Given the description of an element on the screen output the (x, y) to click on. 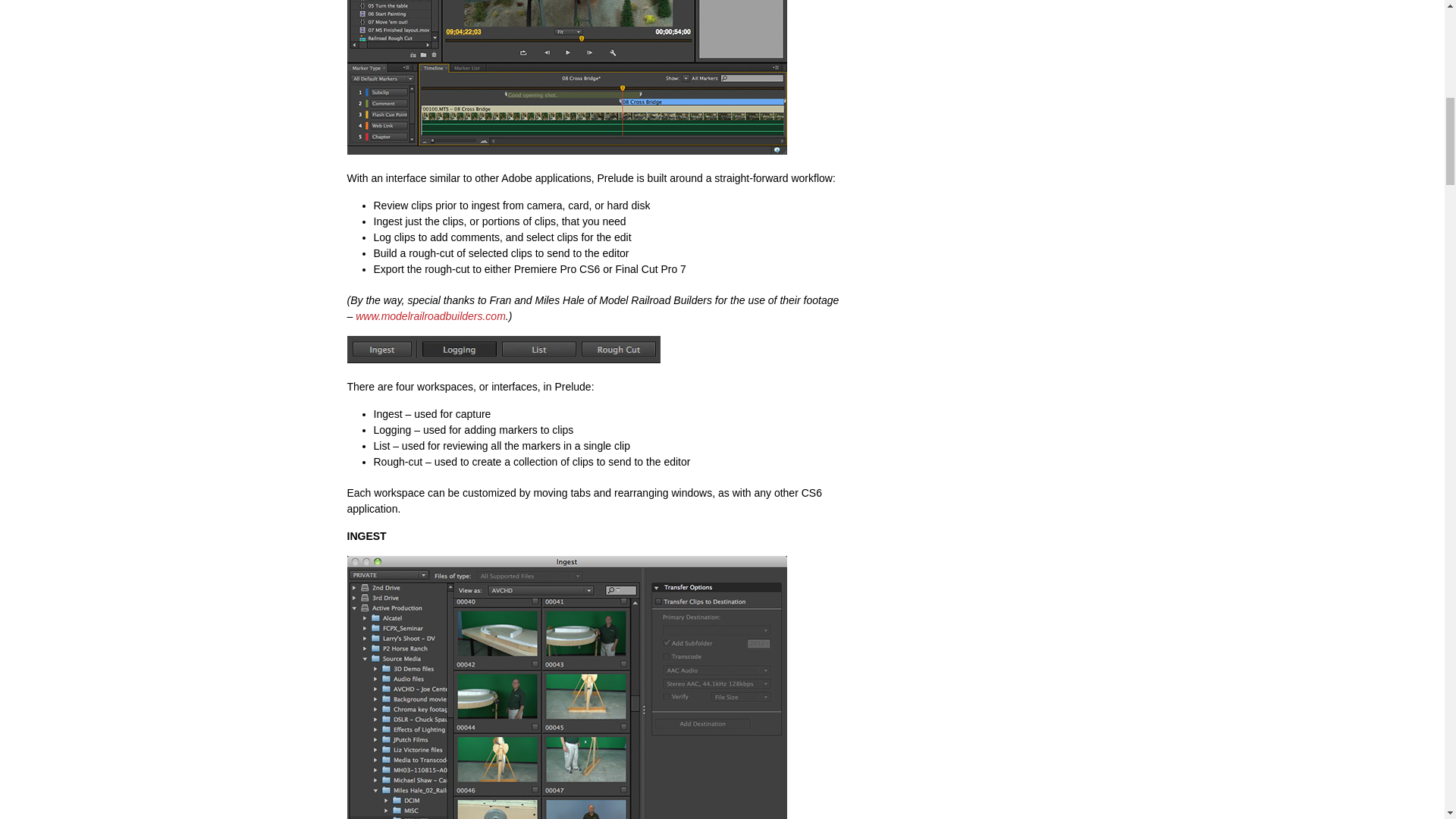
Prelude-04 (567, 687)
www.modelrailroadbuilders.com (430, 316)
prelude-02 (567, 77)
